Given the description of an element on the screen output the (x, y) to click on. 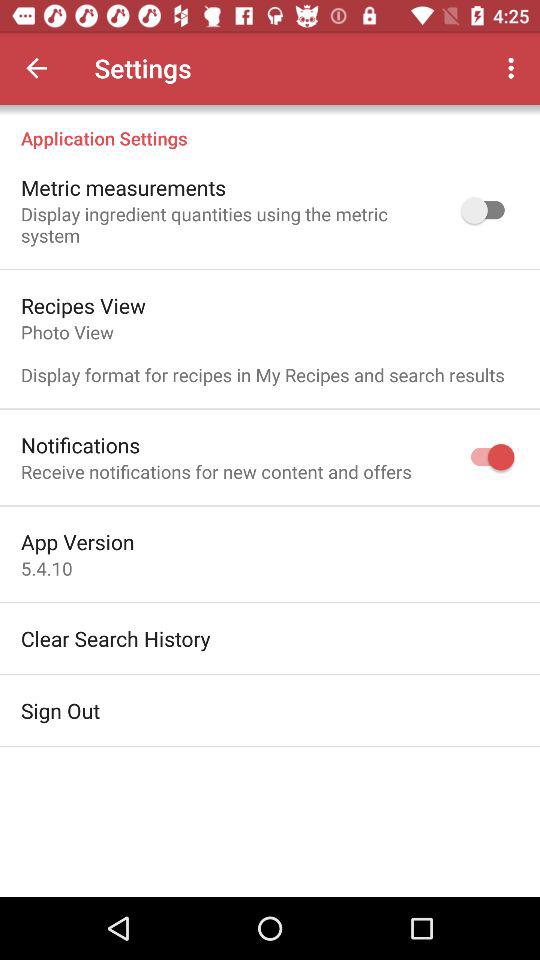
go back to the app (36, 68)
